Given the description of an element on the screen output the (x, y) to click on. 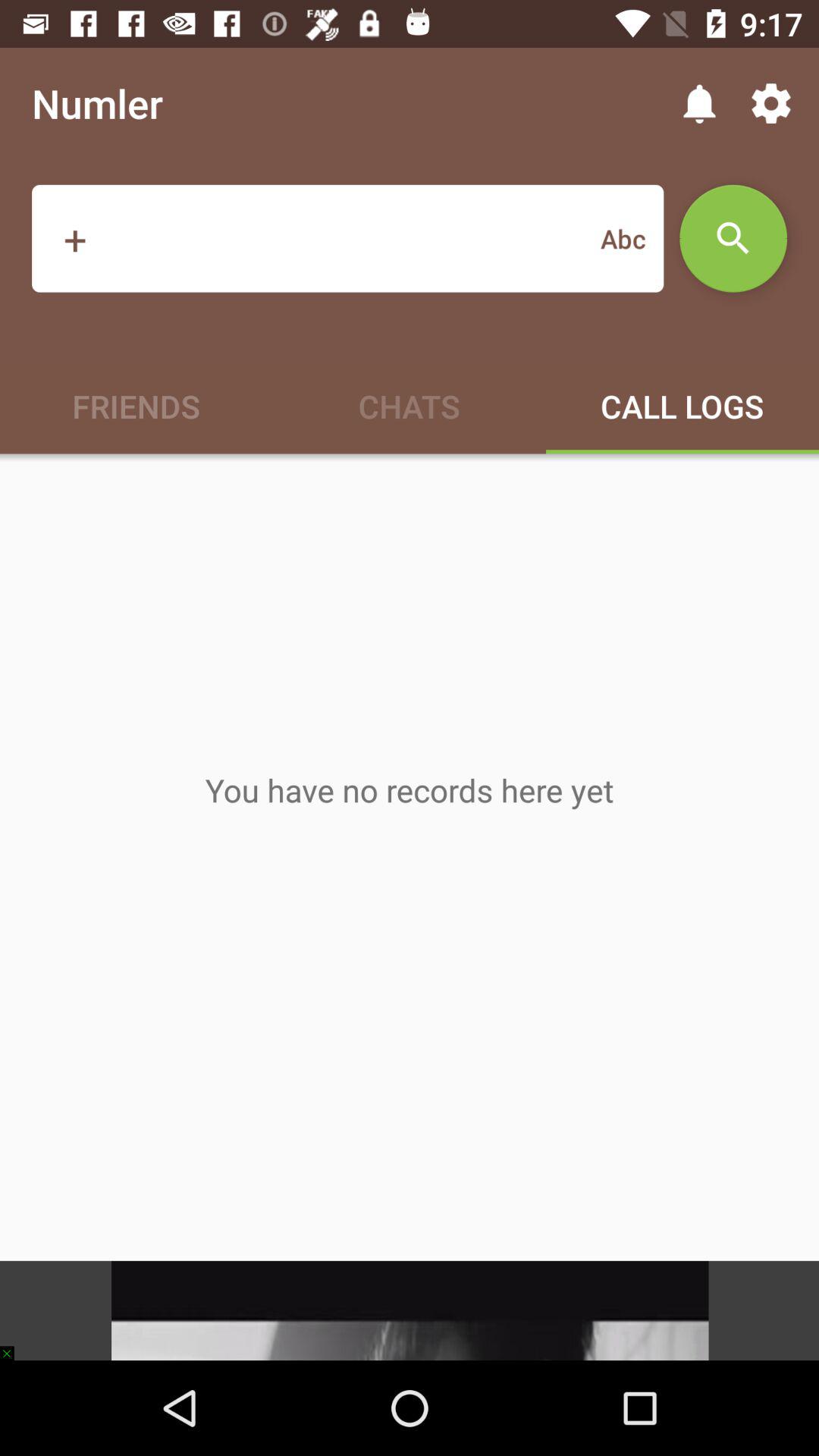
click on the settings option on the top right (771, 103)
